Given the description of an element on the screen output the (x, y) to click on. 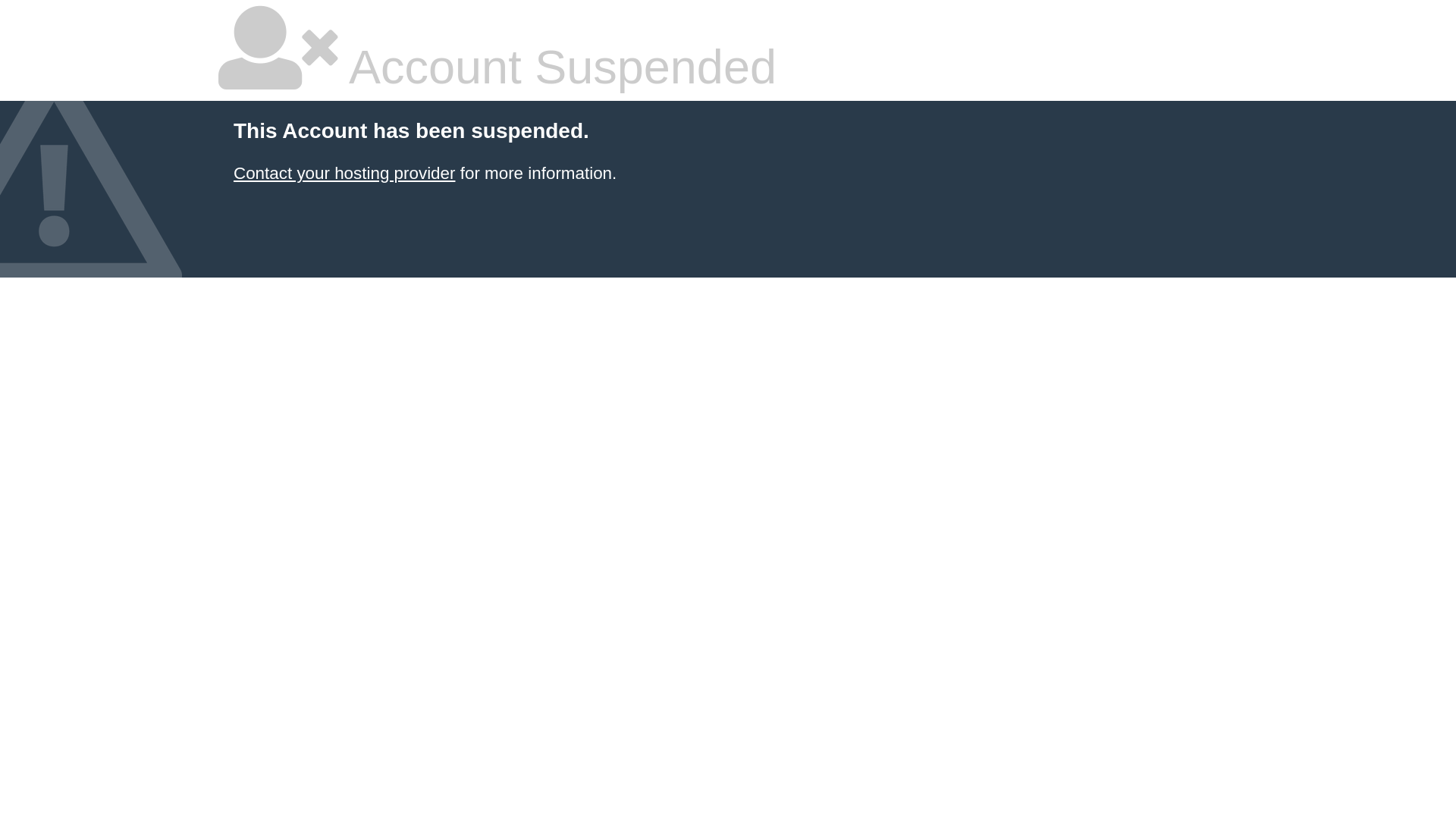
Contact your hosting provider Element type: text (344, 172)
